Given the description of an element on the screen output the (x, y) to click on. 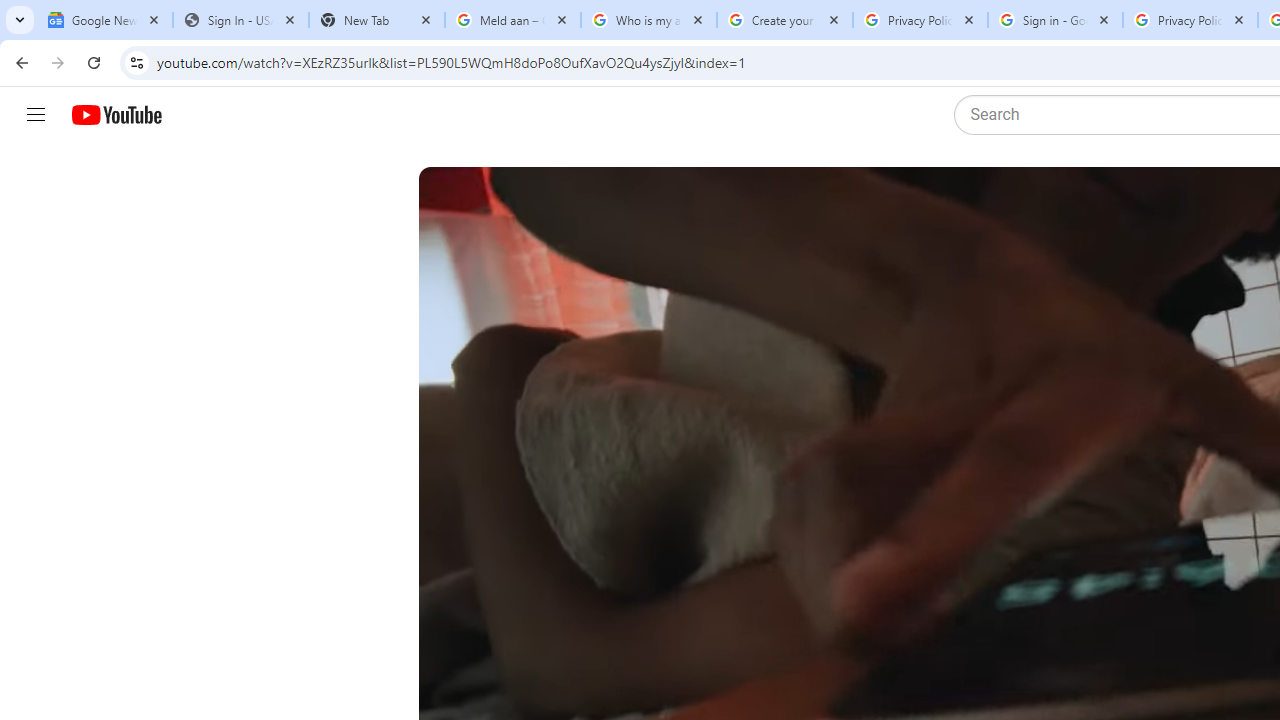
YouTube Home (116, 115)
Google News (104, 20)
Create your Google Account (784, 20)
Sign in - Google Accounts (1055, 20)
Sign In - USA TODAY (240, 20)
Who is my administrator? - Google Account Help (648, 20)
New Tab (376, 20)
